Given the description of an element on the screen output the (x, y) to click on. 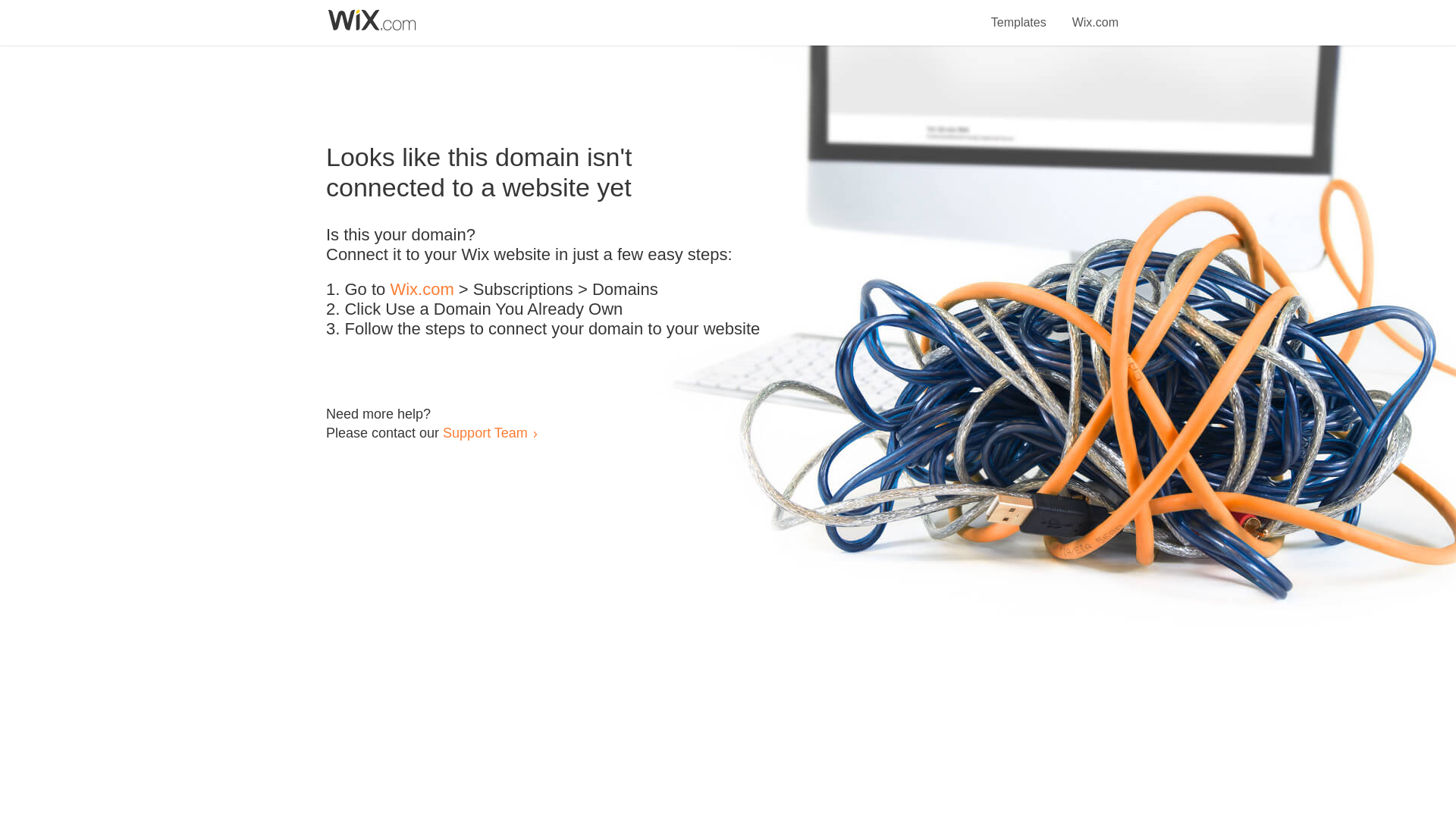
Templates (1018, 14)
Wix.com (1095, 14)
Support Team (484, 432)
Wix.com (421, 289)
